Given the description of an element on the screen output the (x, y) to click on. 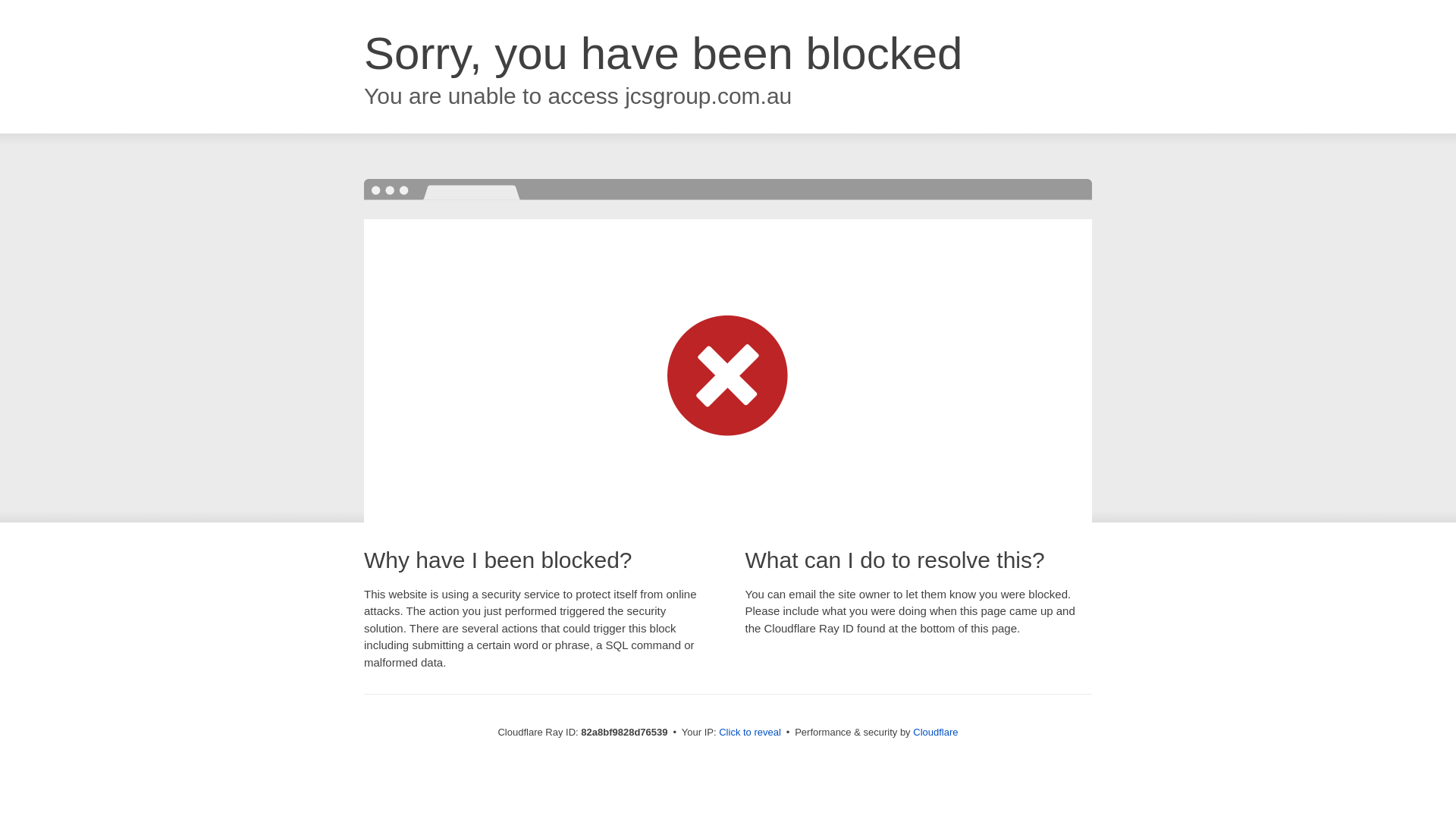
Cloudflare Element type: text (935, 731)
Click to reveal Element type: text (749, 732)
